Given the description of an element on the screen output the (x, y) to click on. 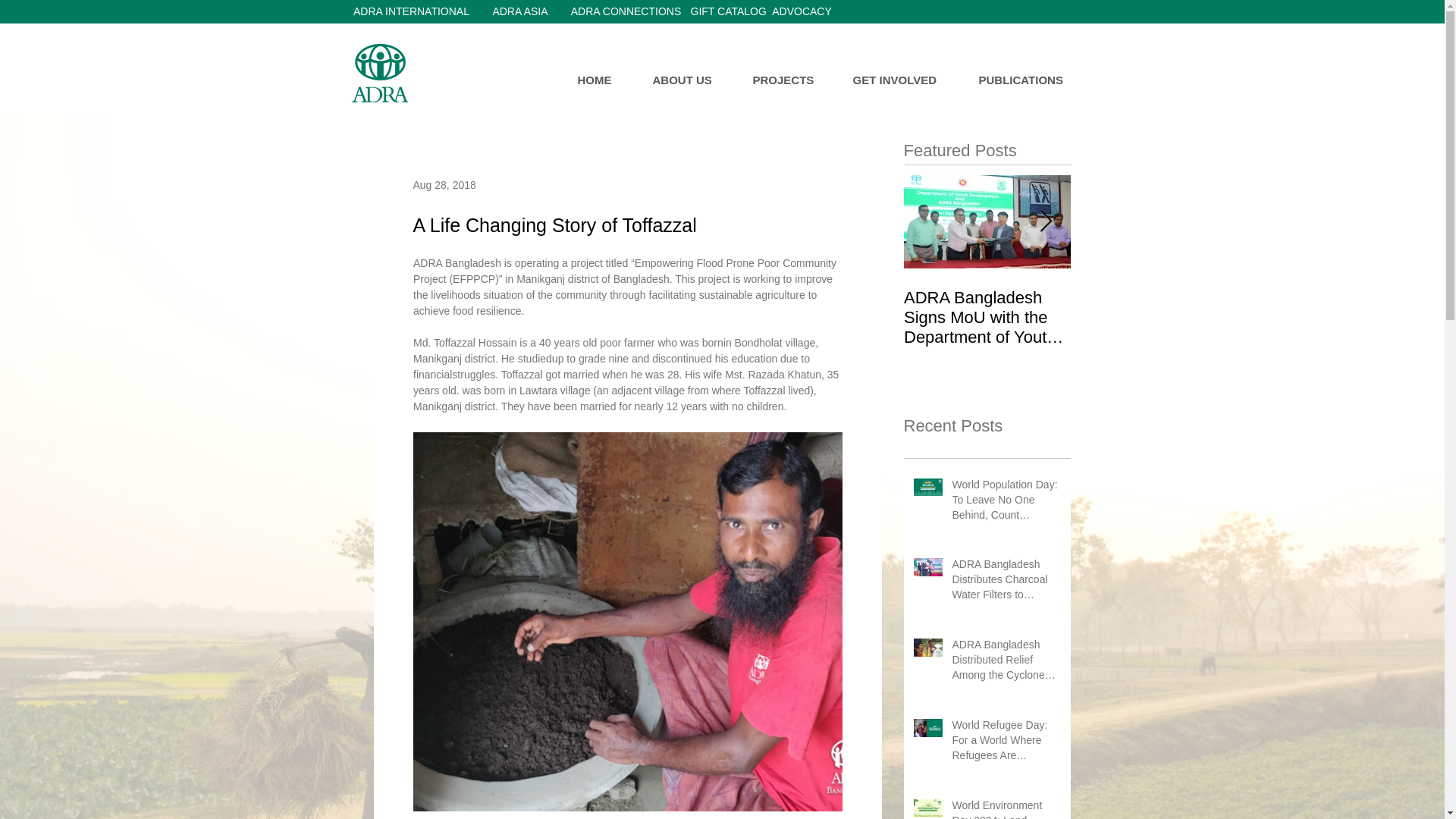
HOME (603, 80)
World Refugee Day: For a World Where Refugees Are Welcomed (1006, 743)
World Population Day: To Leave No One Behind, Count Everyone (1006, 502)
ADRA INTERNATIONAL (411, 11)
ABOUT US (691, 80)
ADRA ASIA (519, 11)
GIFT CATALOG (727, 11)
Emergency Relief for Rohingya Refugees (1153, 307)
PUBLICATIONS (1031, 80)
Aug 28, 2018 (444, 184)
ADRA CONNECTIONS (626, 11)
